Given the description of an element on the screen output the (x, y) to click on. 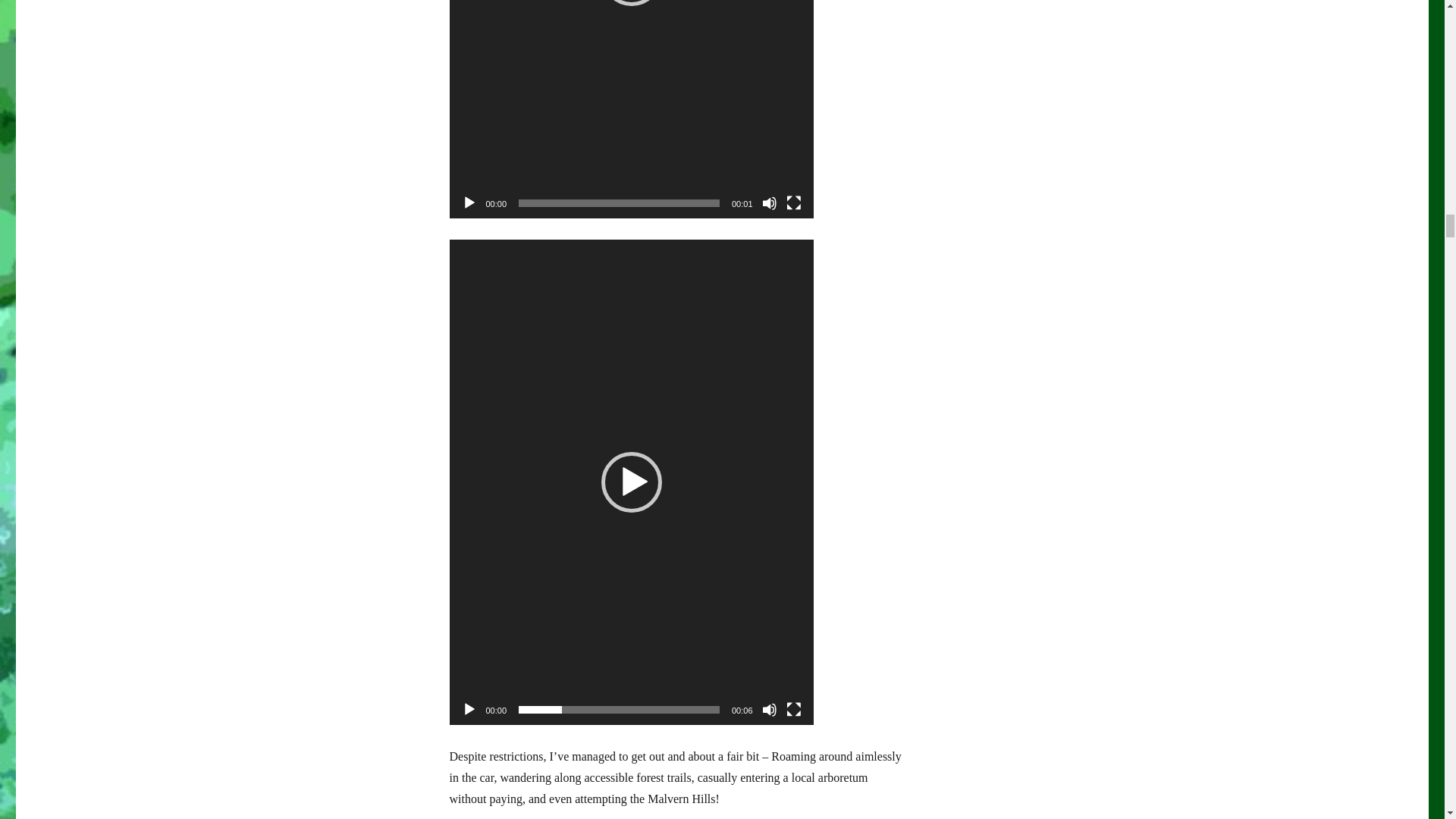
Play (468, 202)
Fullscreen (793, 202)
Mute (768, 709)
Fullscreen (793, 709)
Play (468, 709)
Mute (768, 202)
